Given the description of an element on the screen output the (x, y) to click on. 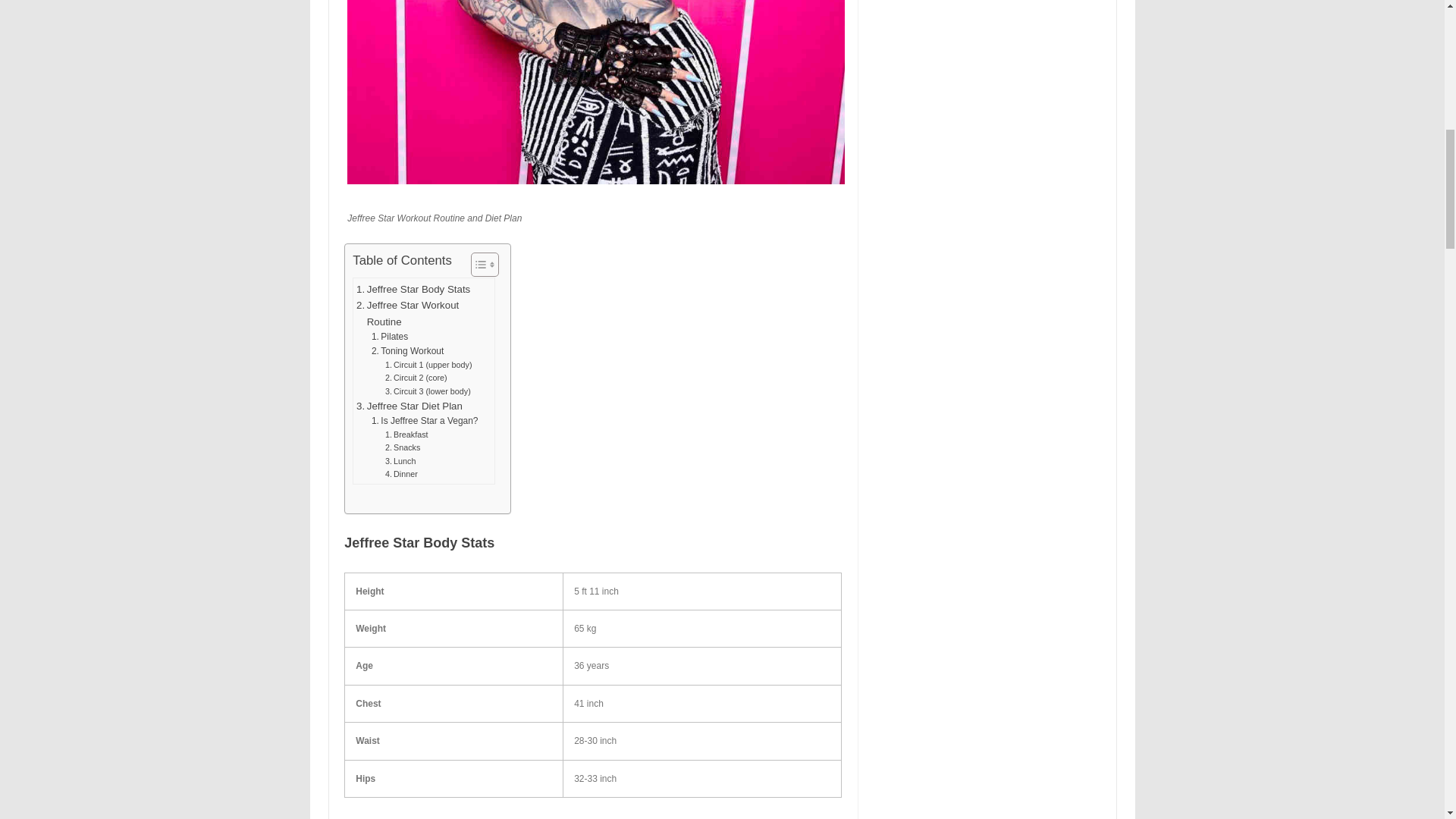
Breakfast (406, 434)
Pilates (389, 336)
Toning Workout (407, 350)
Dinner (401, 473)
Jeffree Star Diet Plan (409, 406)
Jeffree Star Body Stats (413, 289)
Toning Workout (407, 350)
Is Jeffree Star a Vegan? (425, 421)
Breakfast (406, 434)
Snacks (402, 447)
